Given the description of an element on the screen output the (x, y) to click on. 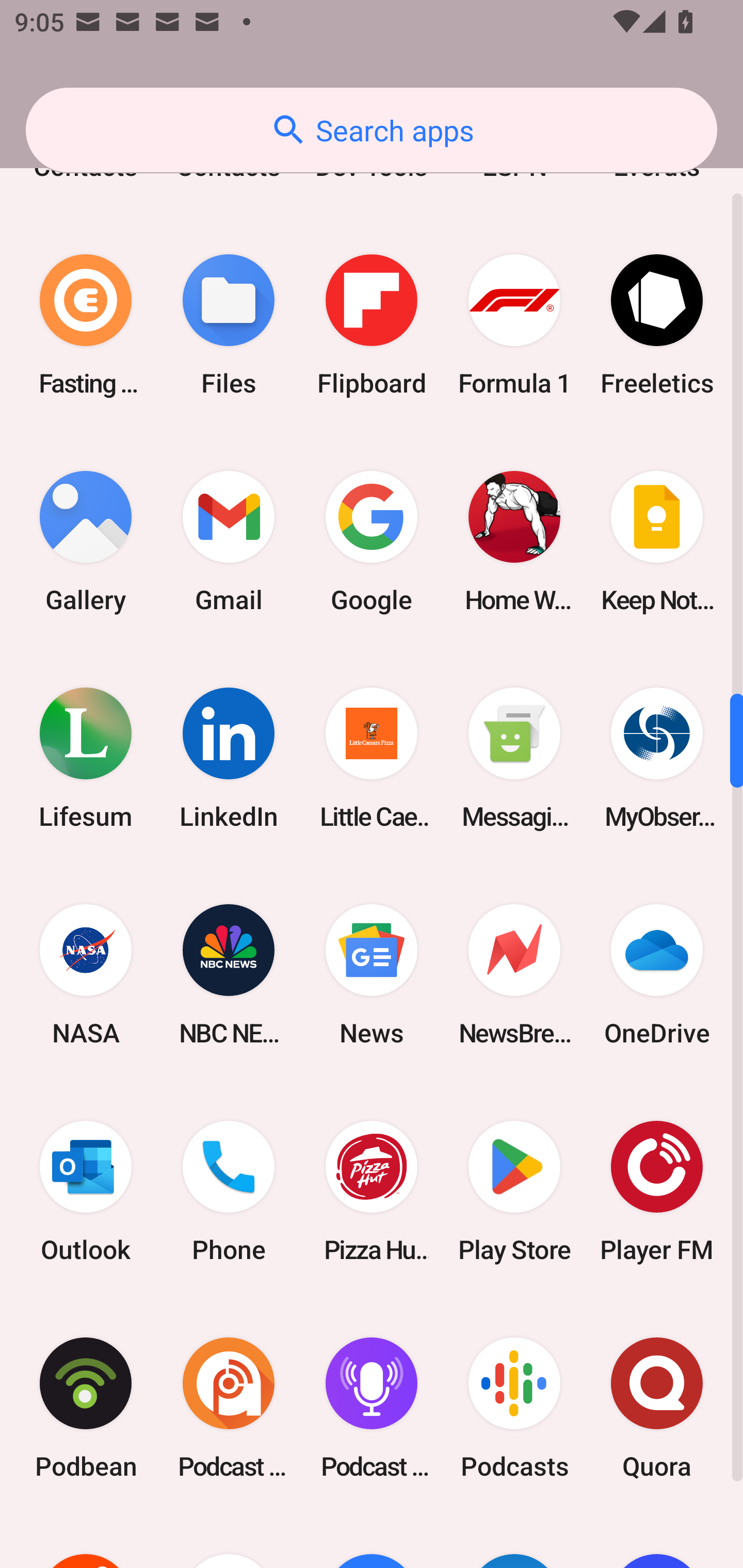
  Search apps (371, 130)
Fasting Coach (85, 324)
Files (228, 324)
Flipboard (371, 324)
Formula 1 (514, 324)
Freeletics (656, 324)
Gallery (85, 540)
Gmail (228, 540)
Google (371, 540)
Home Workout (514, 540)
Keep Notes (656, 540)
Lifesum (85, 758)
LinkedIn (228, 758)
Little Caesars Pizza (371, 758)
Messaging (514, 758)
MyObservatory (656, 758)
NASA (85, 975)
NBC NEWS (228, 975)
News (371, 975)
NewsBreak (514, 975)
OneDrive (656, 975)
Outlook (85, 1191)
Phone (228, 1191)
Pizza Hut HK & Macau (371, 1191)
Play Store (514, 1191)
Player FM (656, 1191)
Podbean (85, 1407)
Podcast Addict (228, 1407)
Podcast Player (371, 1407)
Podcasts (514, 1407)
Quora (656, 1407)
